Given the description of an element on the screen output the (x, y) to click on. 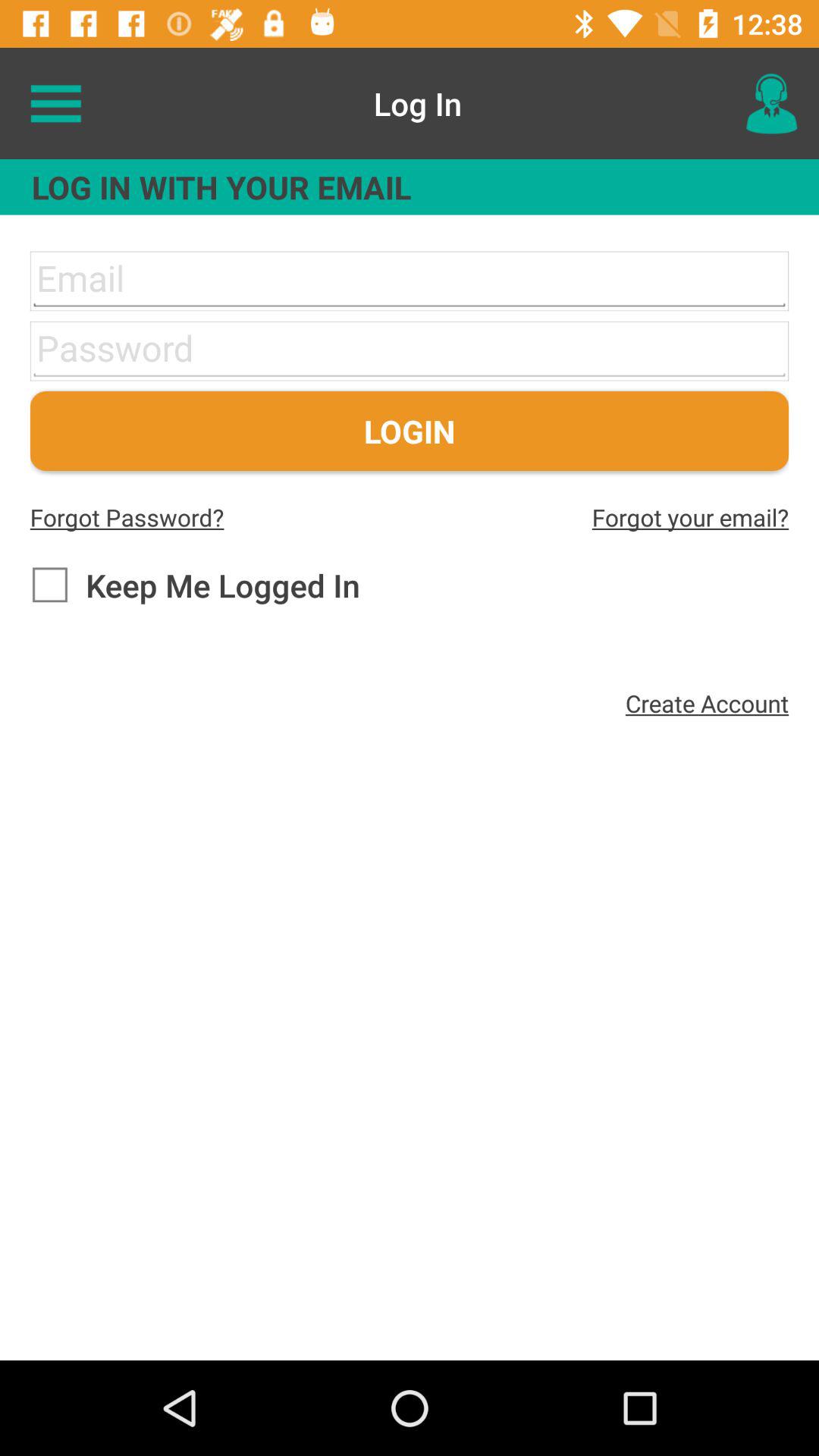
select the item next to log in icon (55, 103)
